Given the description of an element on the screen output the (x, y) to click on. 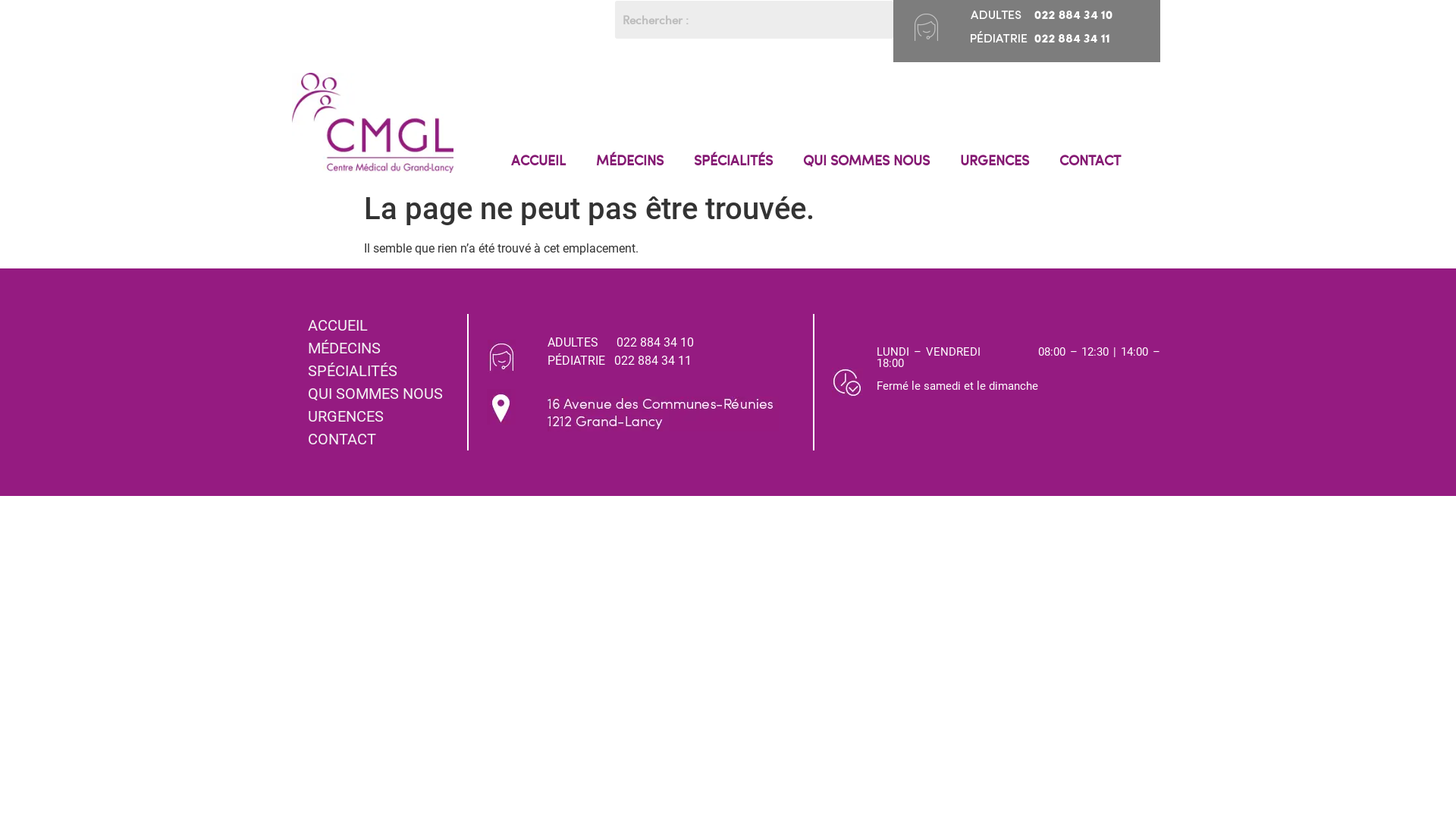
QUI SOMMES NOUS Element type: text (865, 159)
ACCUEIL Element type: text (381, 324)
CONTACT Element type: text (1089, 159)
ACCUEIL Element type: text (537, 159)
head Element type: hover (926, 25)
CONTACT Element type: text (381, 438)
022 884 34 10 Element type: text (654, 342)
QUI SOMMES NOUS Element type: text (381, 393)
022 884 34 11 Element type: text (652, 360)
URGENCES Element type: text (994, 159)
Recherche Element type: hover (754, 19)
URGENCES Element type: text (381, 415)
